Given the description of an element on the screen output the (x, y) to click on. 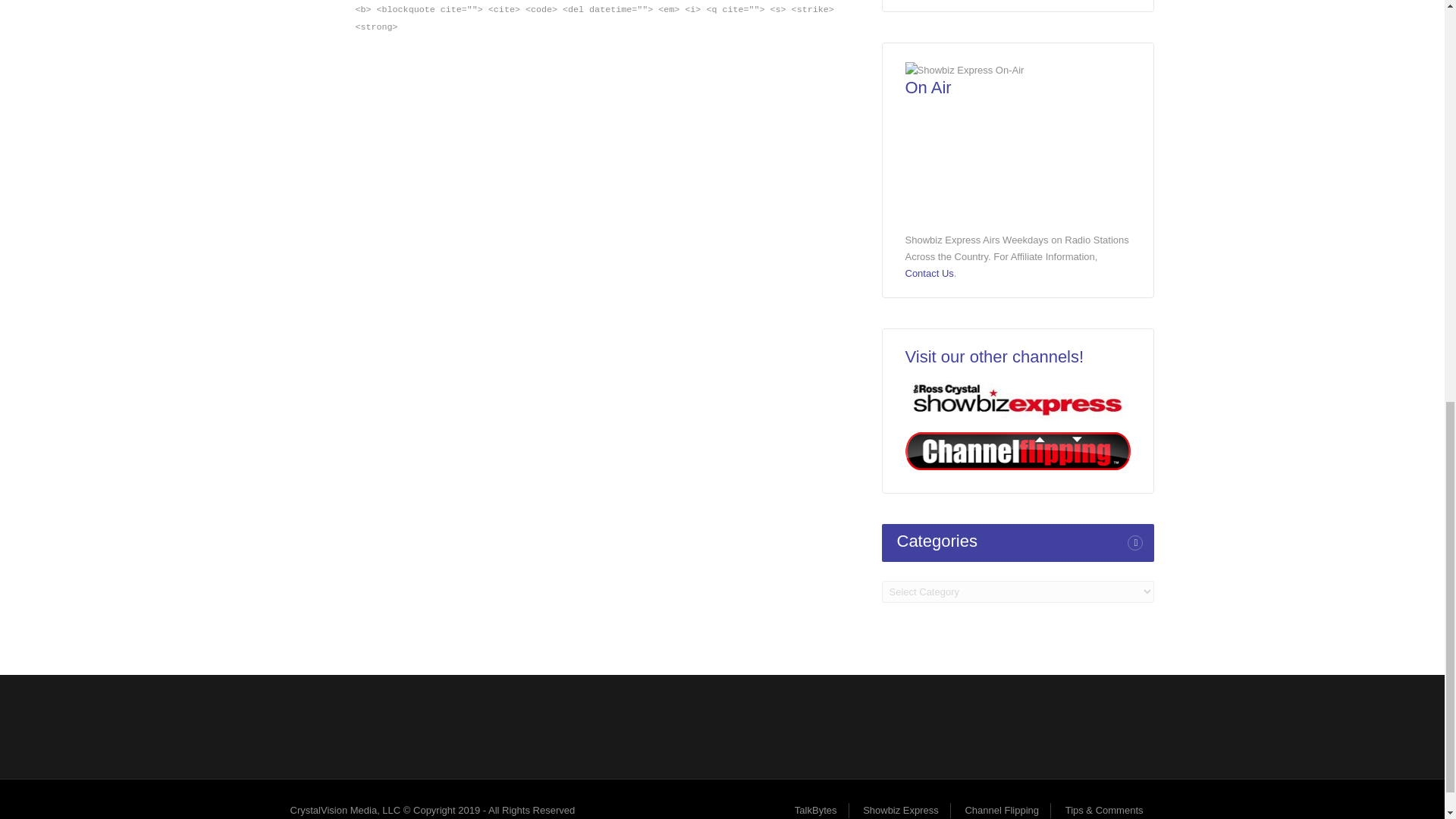
Advertisement (721, 724)
Channel Flipping (1001, 809)
Contact Us (929, 273)
Submit (829, 60)
TalkBytes (815, 809)
Showbiz Express (901, 809)
